Given the description of an element on the screen output the (x, y) to click on. 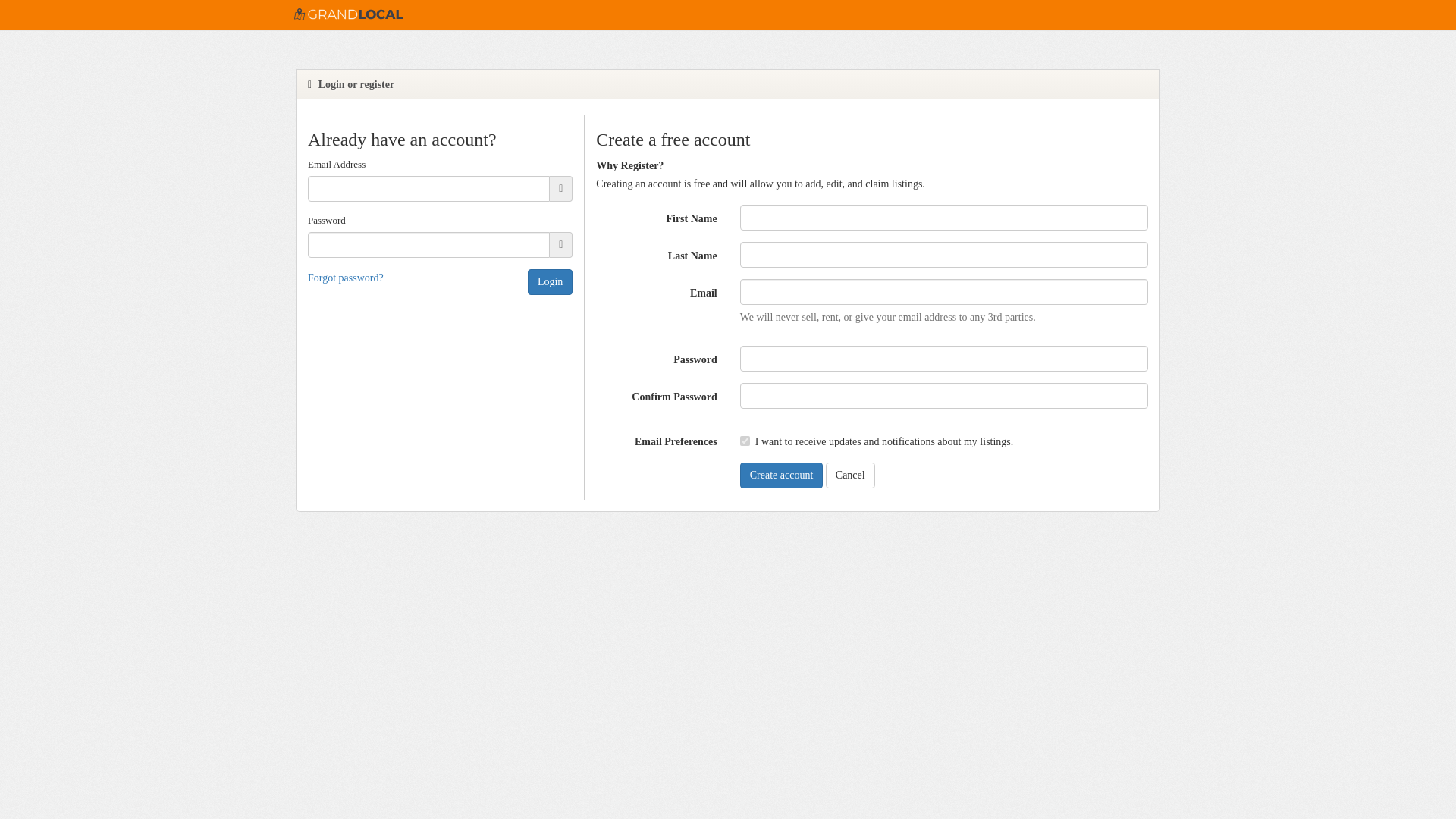
Forgot password? (345, 277)
Create account (781, 475)
Login (549, 281)
Cancel (850, 475)
on (744, 440)
